Given the description of an element on the screen output the (x, y) to click on. 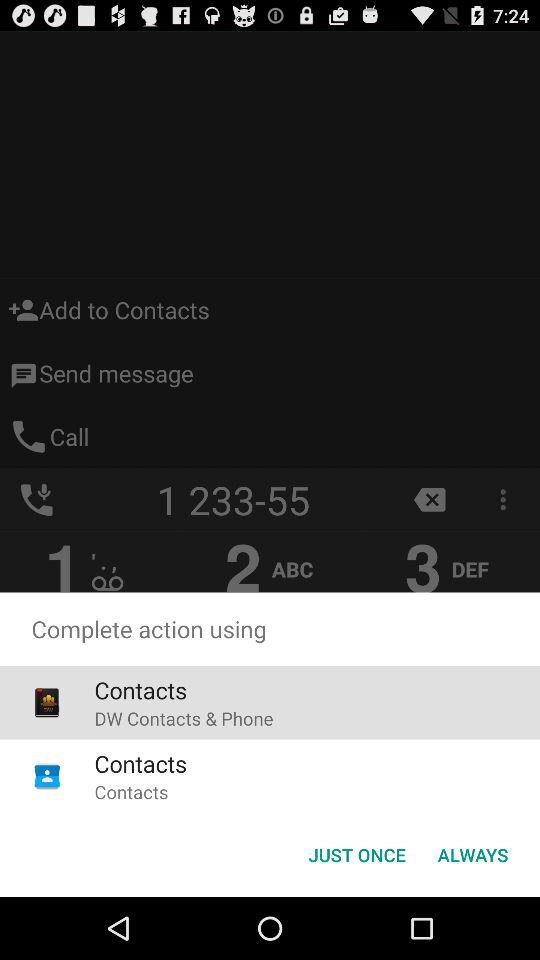
tap the icon below contacts item (183, 718)
